Given the description of an element on the screen output the (x, y) to click on. 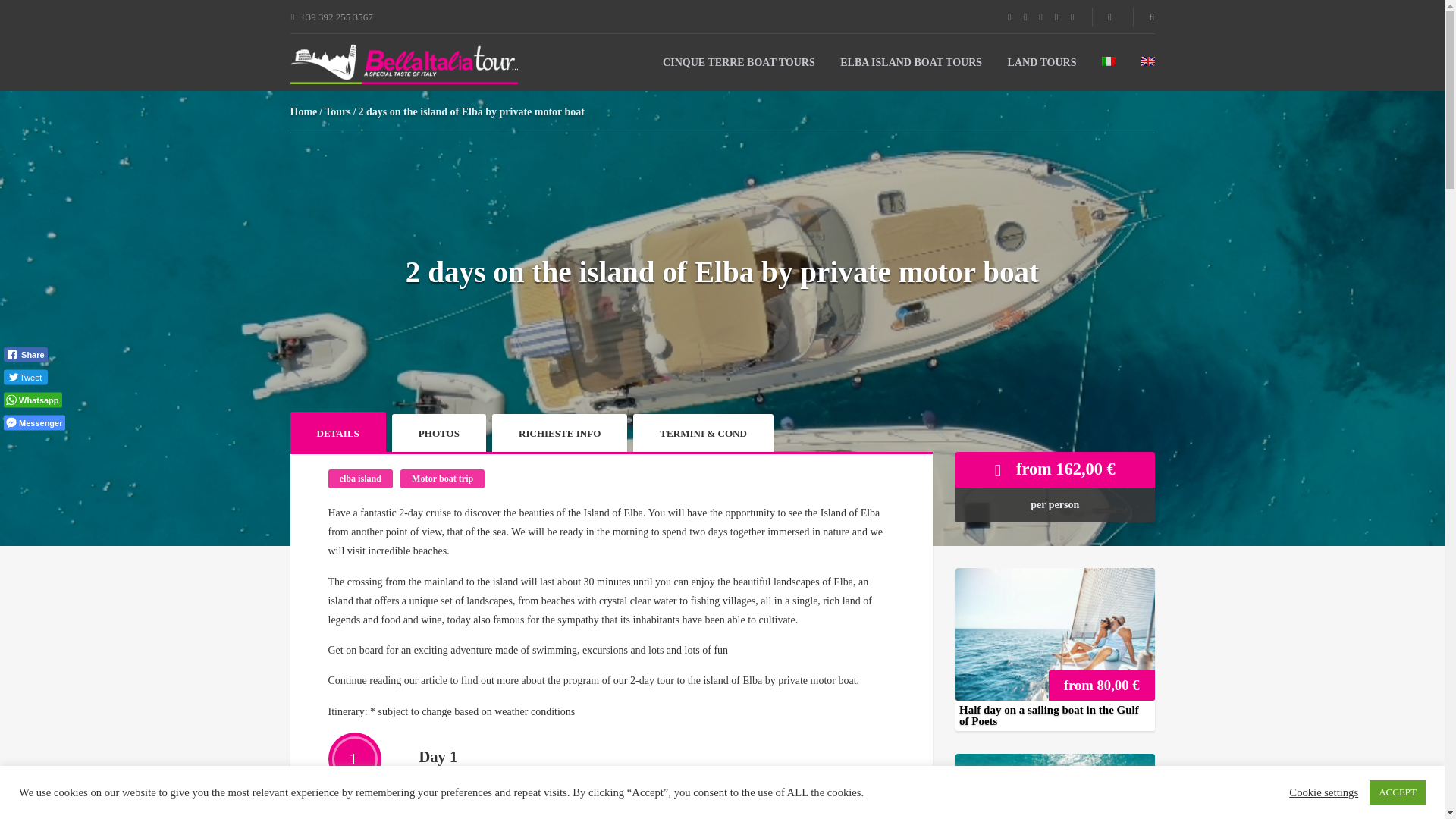
PHOTOS (438, 433)
RICHIESTE INFO (559, 433)
ELBA ISLAND BOAT TOURS (910, 61)
Motor boat trip (442, 478)
Gite ed escursioni in barca (402, 63)
Tours (337, 111)
Home (303, 111)
DETAILS (337, 431)
elba island (360, 478)
LAND TOURS (1042, 61)
CINQUE TERRE BOAT TOURS (738, 61)
